Given the description of an element on the screen output the (x, y) to click on. 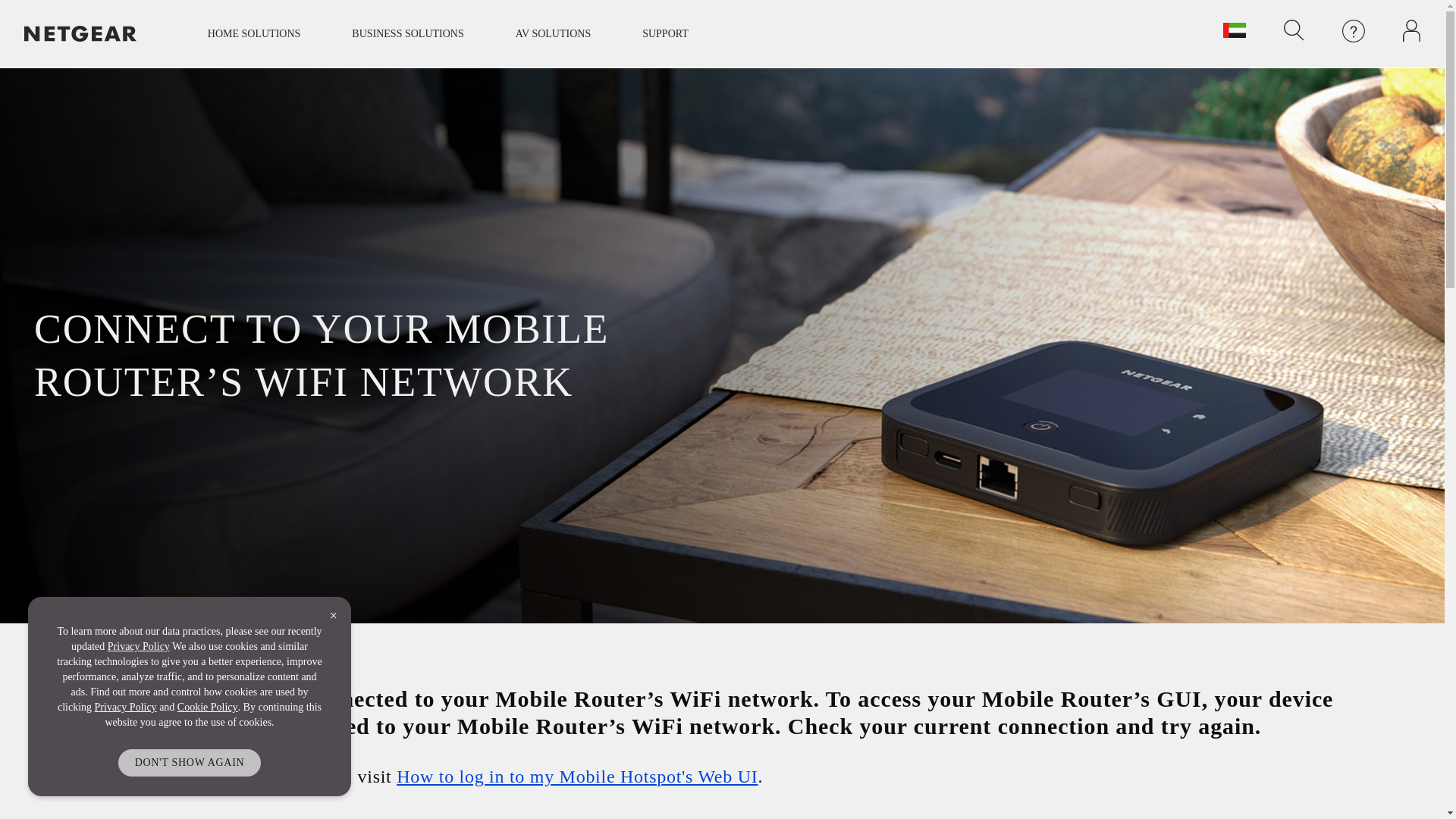
HOME SOLUTIONS (253, 33)
BUSINESS SOLUTIONS (408, 33)
